Given the description of an element on the screen output the (x, y) to click on. 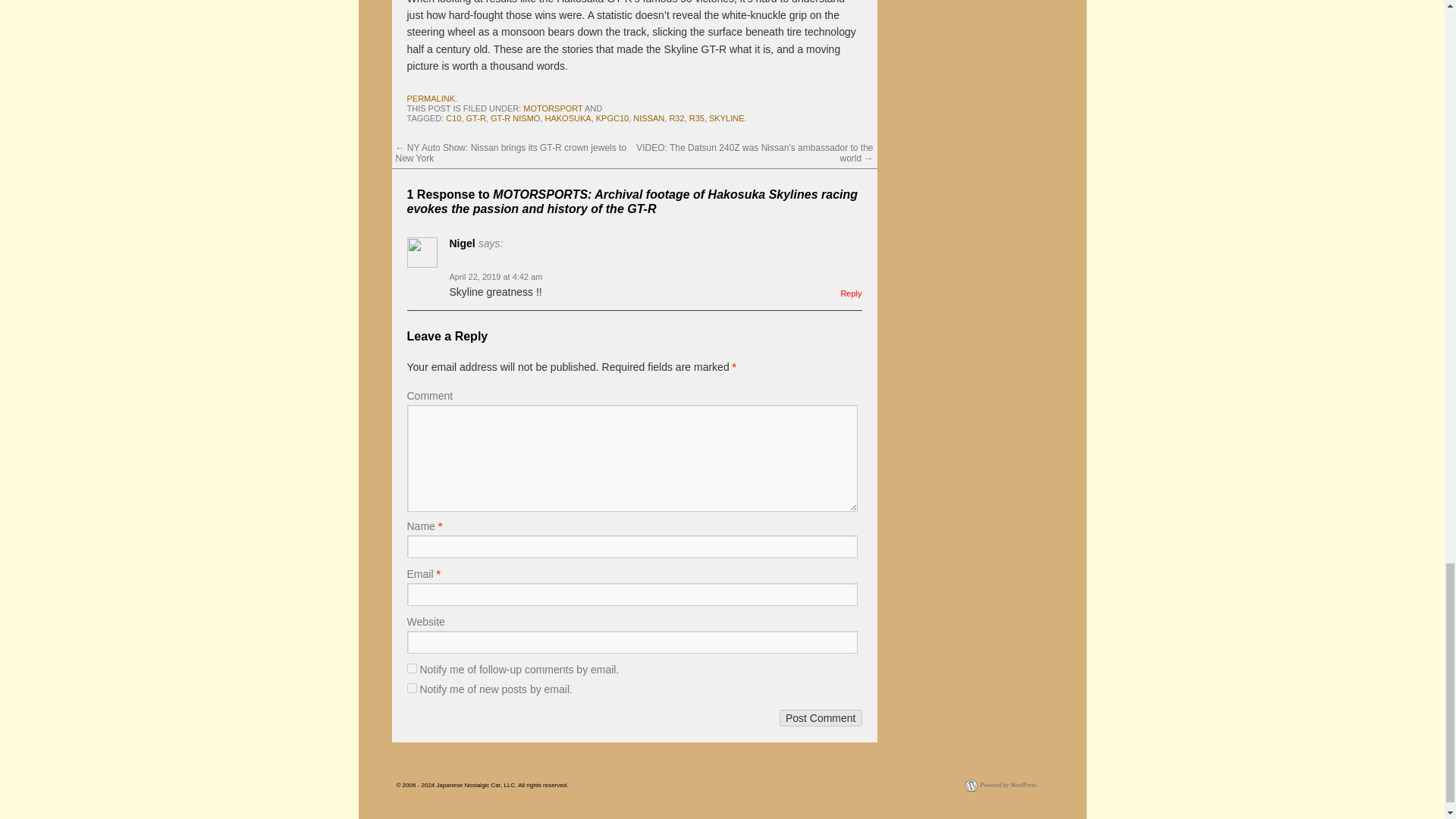
subscribe (411, 668)
NISSAN (648, 117)
R32 (676, 117)
KPGC10 (611, 117)
GT-R NISMO (515, 117)
Post Comment (819, 718)
PERMALINK (430, 98)
SKYLINE (726, 117)
Reply (850, 293)
April 22, 2019 at 4:42 am (494, 276)
subscribe (411, 687)
GT-R (475, 117)
Post Comment (819, 718)
C10 (453, 117)
